Given the description of an element on the screen output the (x, y) to click on. 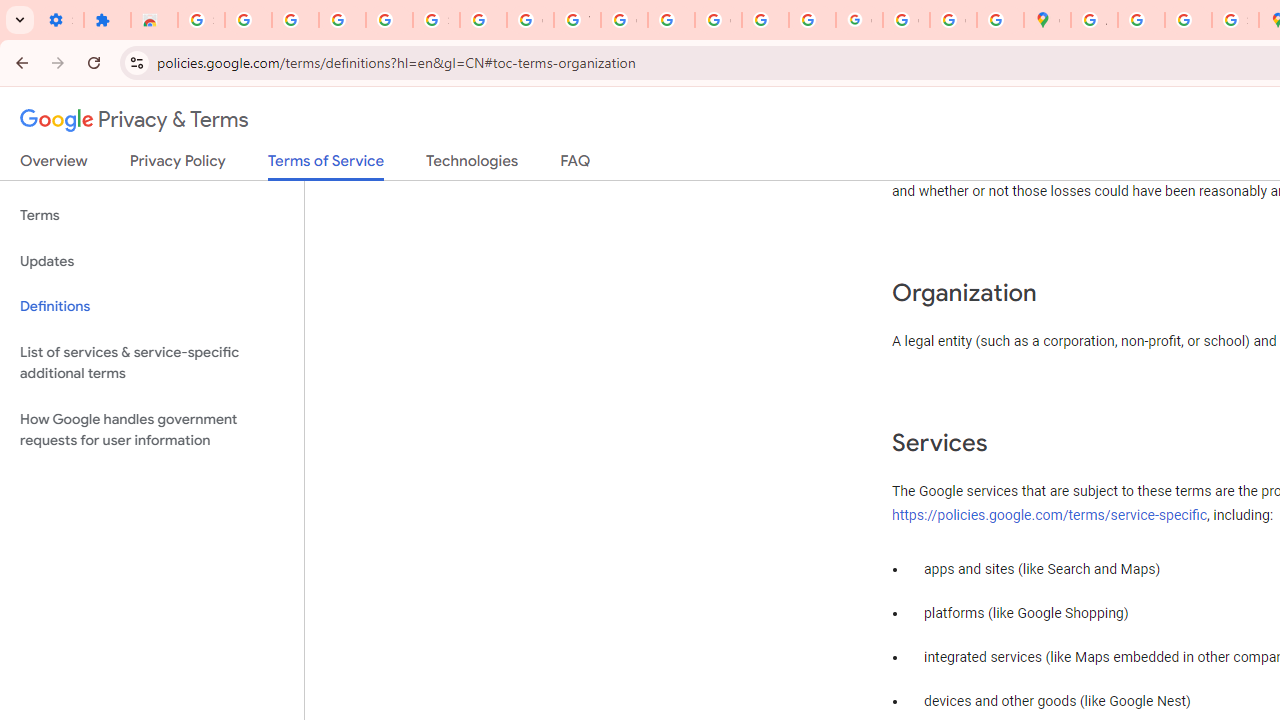
List of services & service-specific additional terms (152, 362)
Extensions (107, 20)
Safety in Our Products - Google Safety Center (1235, 20)
FAQ (575, 165)
Reviews: Helix Fruit Jump Arcade Game (153, 20)
Terms of Service (326, 166)
Technologies (472, 165)
Privacy & Terms (134, 120)
Terms (152, 215)
